Given the description of an element on the screen output the (x, y) to click on. 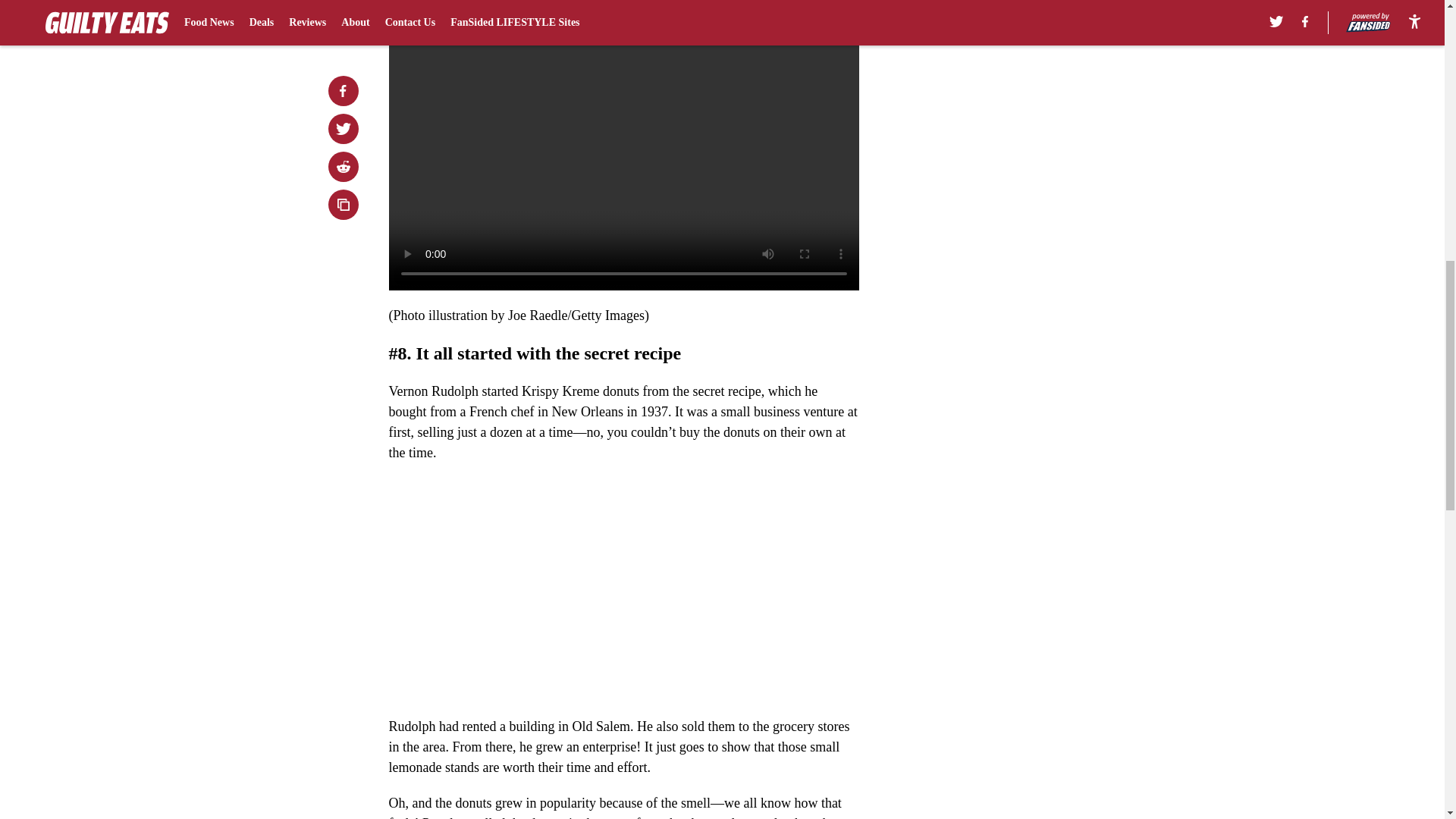
Prev (433, 5)
Next (813, 5)
3rd party ad content (1047, 84)
3rd party ad content (1047, 294)
